Given the description of an element on the screen output the (x, y) to click on. 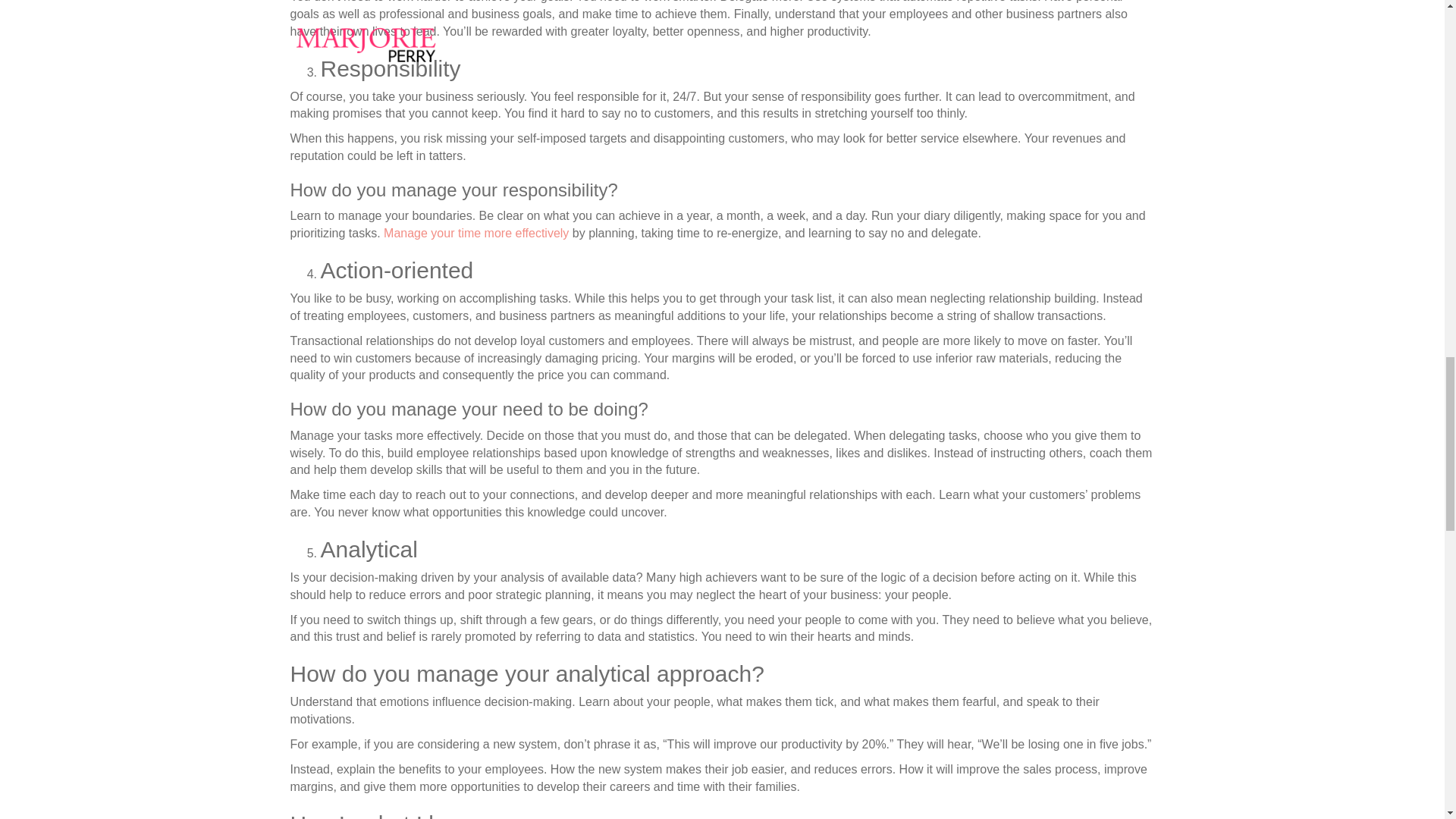
Manage your time more effectively (476, 232)
